Given the description of an element on the screen output the (x, y) to click on. 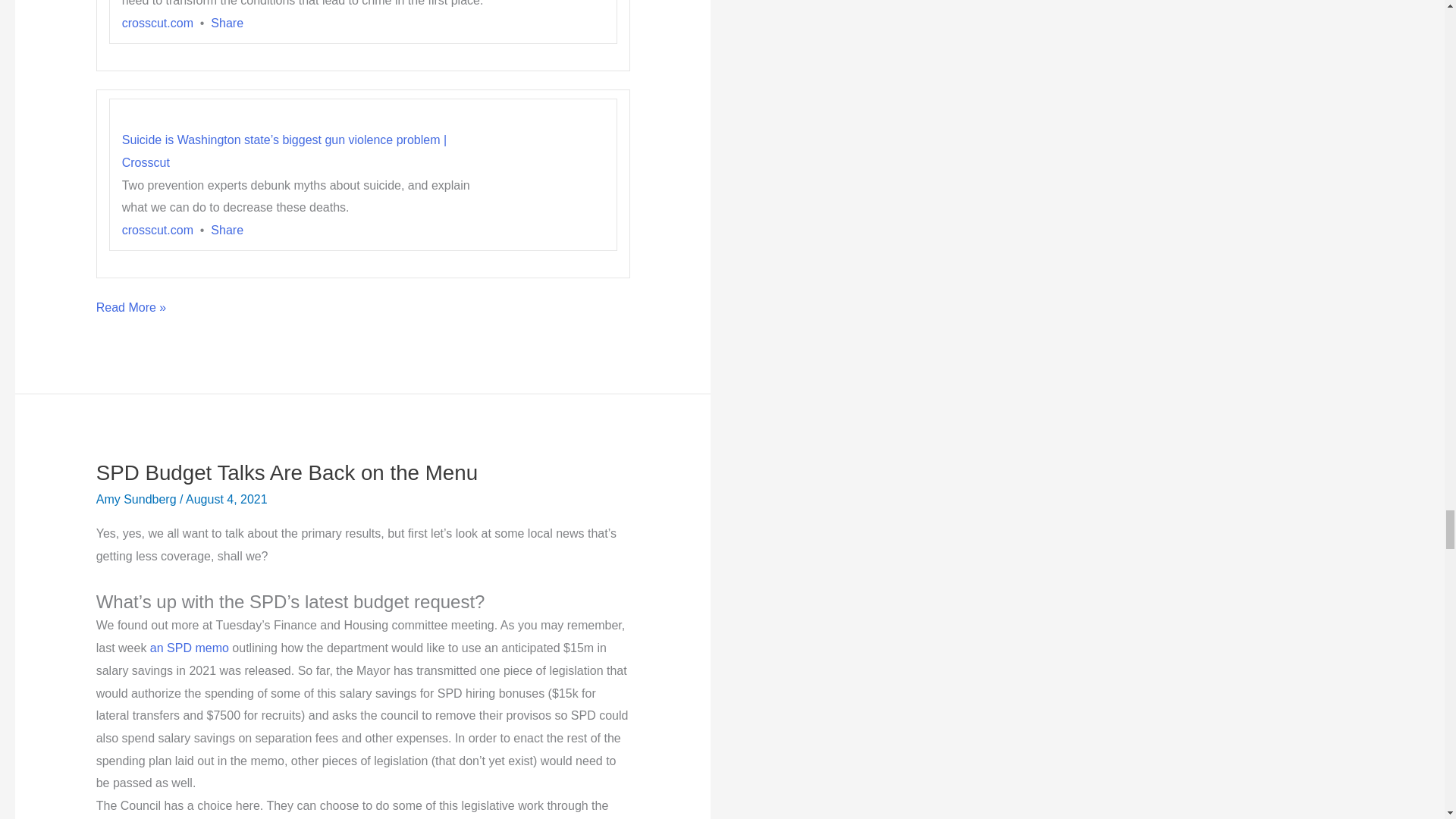
View all posts by Amy Sundberg (137, 499)
